Given the description of an element on the screen output the (x, y) to click on. 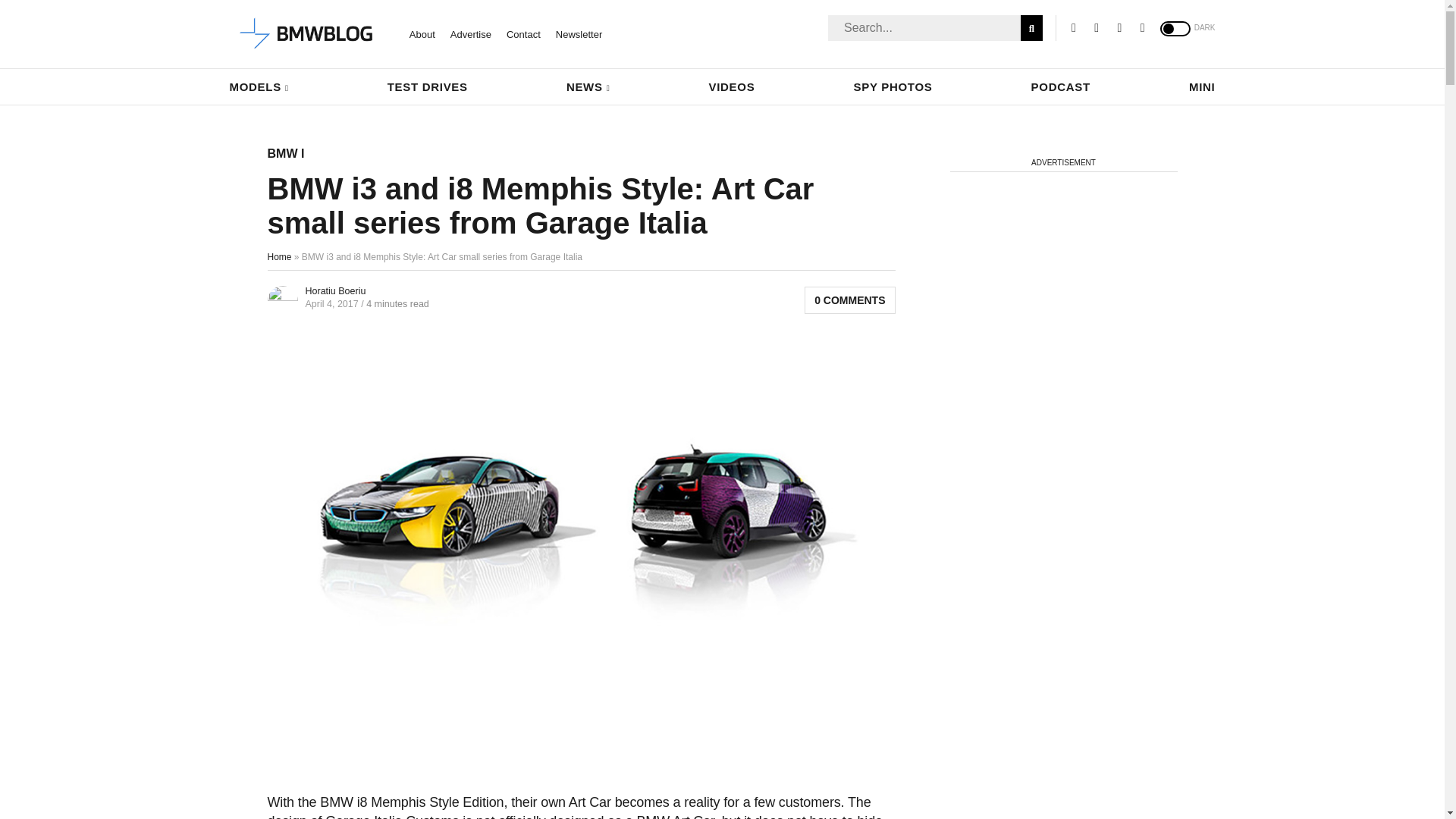
Contact (523, 34)
Horatiu Boeriu (334, 290)
BMW BLOG (306, 34)
MODELS (258, 86)
3rd party ad content (580, 728)
Newsletter (579, 34)
Advertise (470, 34)
About (422, 34)
